Given the description of an element on the screen output the (x, y) to click on. 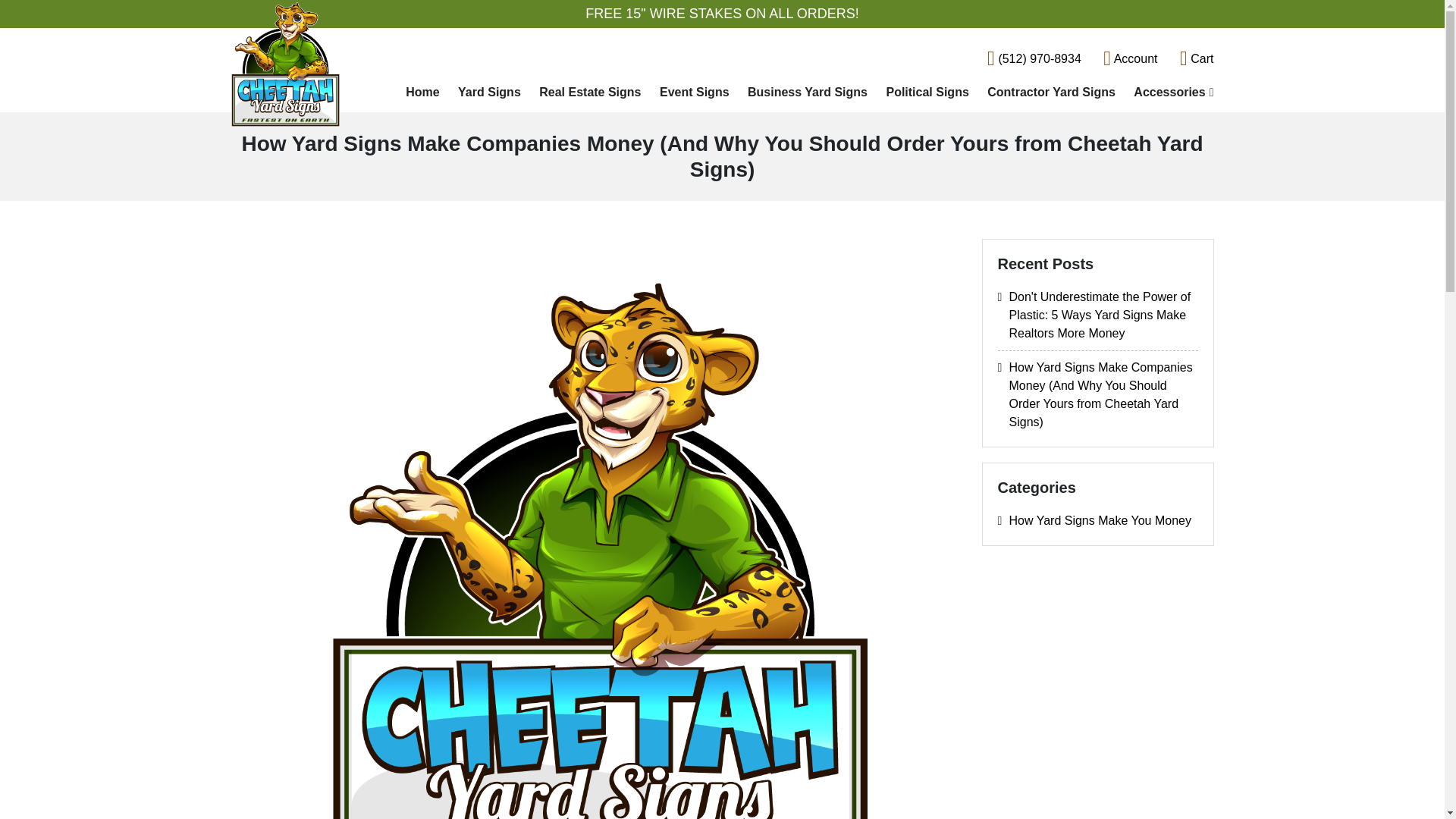
Home (421, 92)
How Yard Signs Make You Money (1097, 520)
Contractor Yard Signs (1050, 92)
Event Signs (694, 92)
Real Estate Signs (589, 92)
Business Yard Signs (807, 92)
Cart (1196, 58)
Accessories (1168, 92)
Account (1130, 58)
Political Signs (926, 92)
Yard Signs (488, 92)
